Given the description of an element on the screen output the (x, y) to click on. 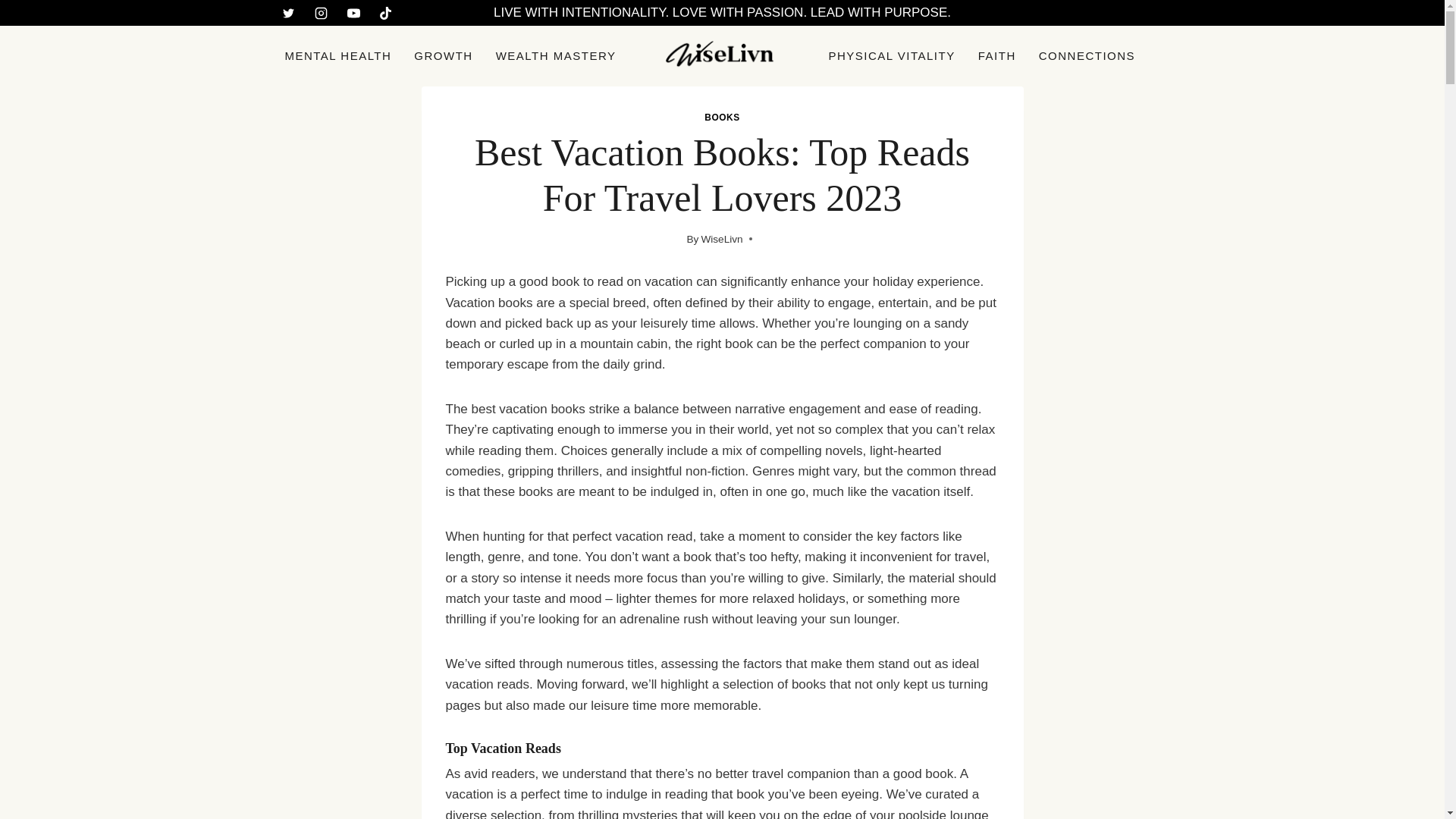
MENTAL HEALTH (338, 56)
WiseLivn (721, 238)
PHYSICAL VITALITY (891, 56)
CONNECTIONS (1087, 56)
BOOKS (721, 117)
WEALTH MASTERY (555, 56)
FAITH (996, 56)
GROWTH (443, 56)
